Given the description of an element on the screen output the (x, y) to click on. 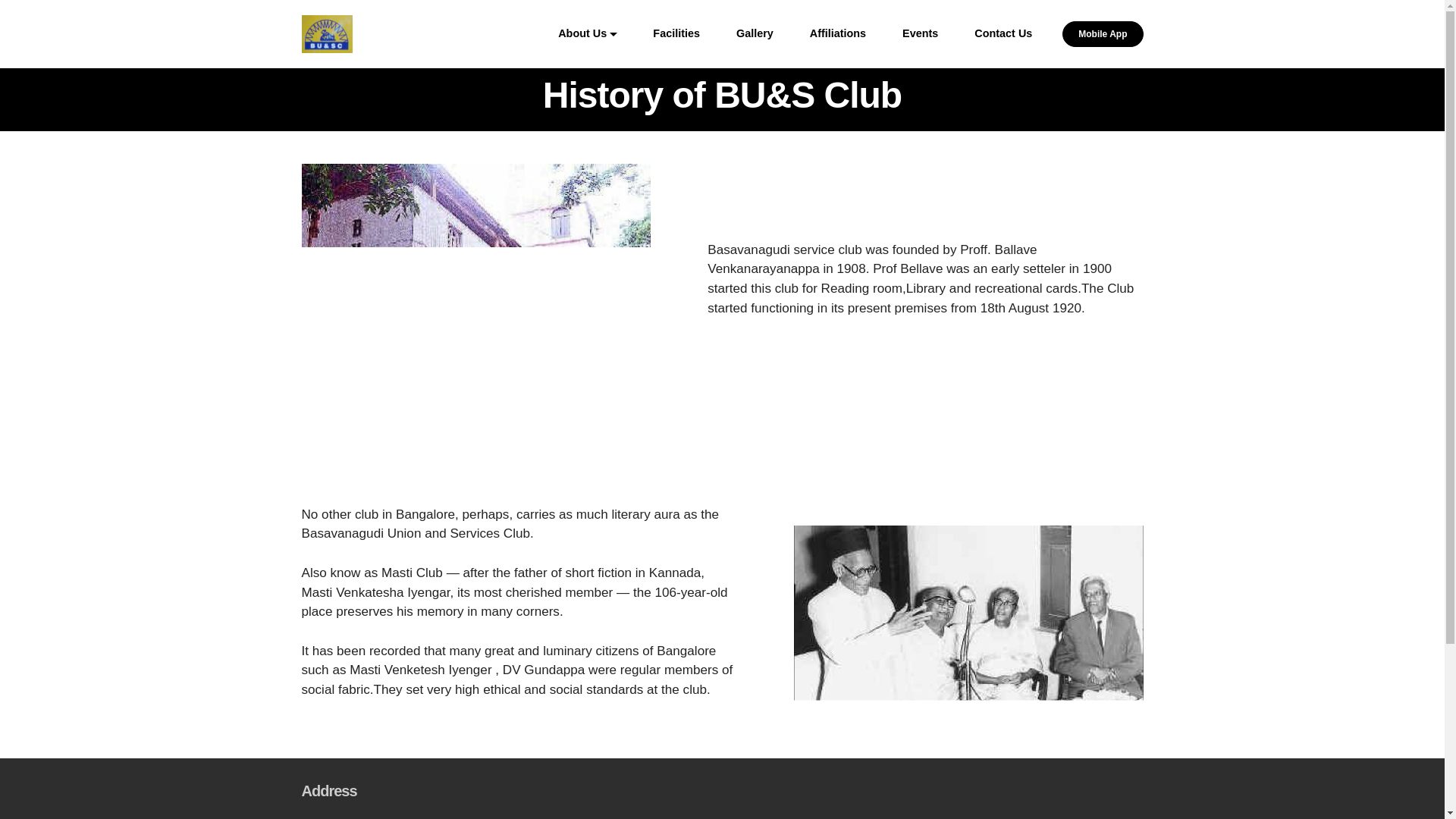
Gallery (754, 33)
Contact Us (1003, 33)
Events (919, 33)
Facilities (676, 33)
Mobile App (1102, 33)
About Us (582, 33)
Affiliations (837, 33)
